Given the description of an element on the screen output the (x, y) to click on. 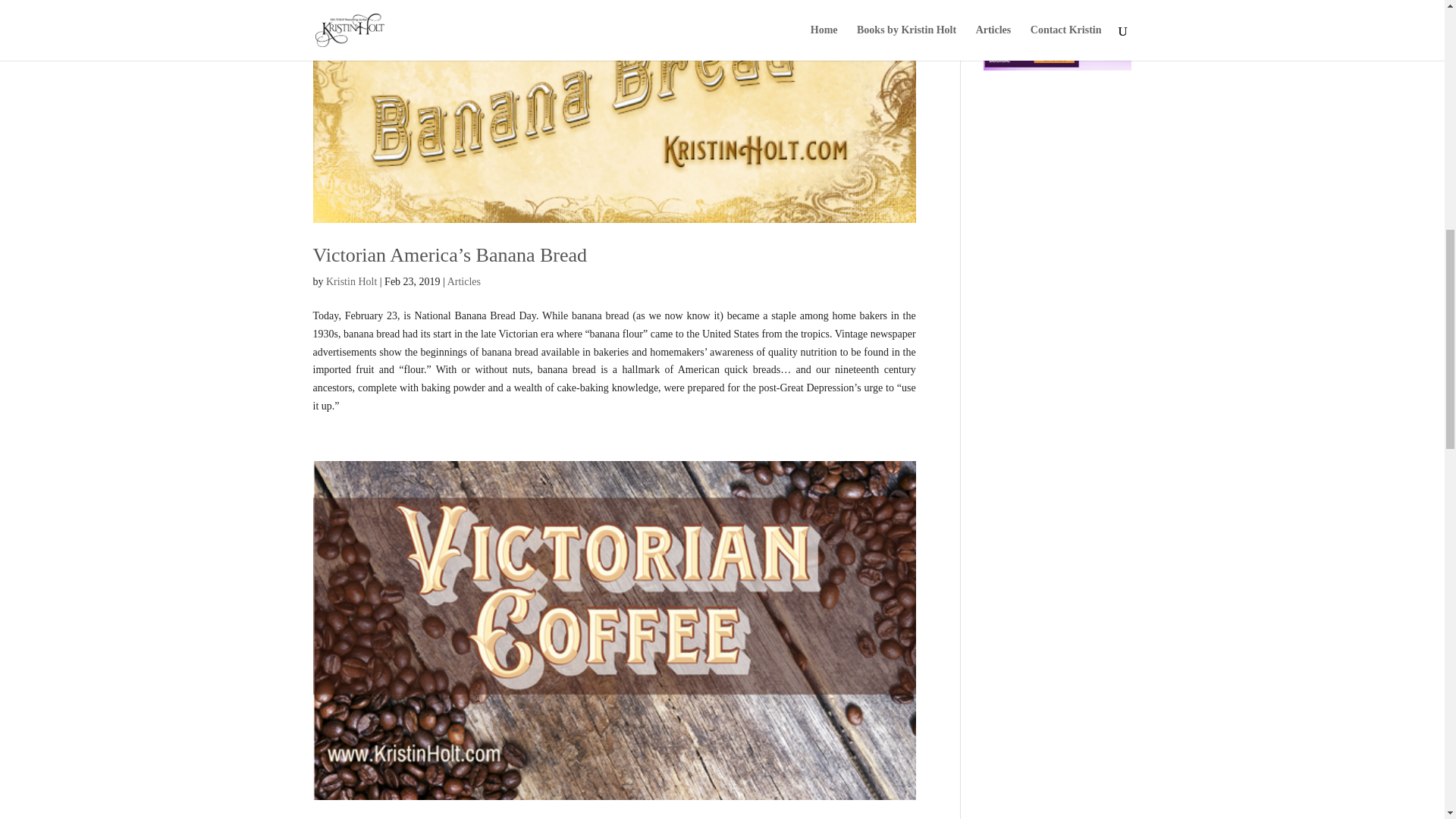
Kristin Holt (351, 281)
Posts by Kristin Holt (351, 281)
Articles (463, 281)
